Given the description of an element on the screen output the (x, y) to click on. 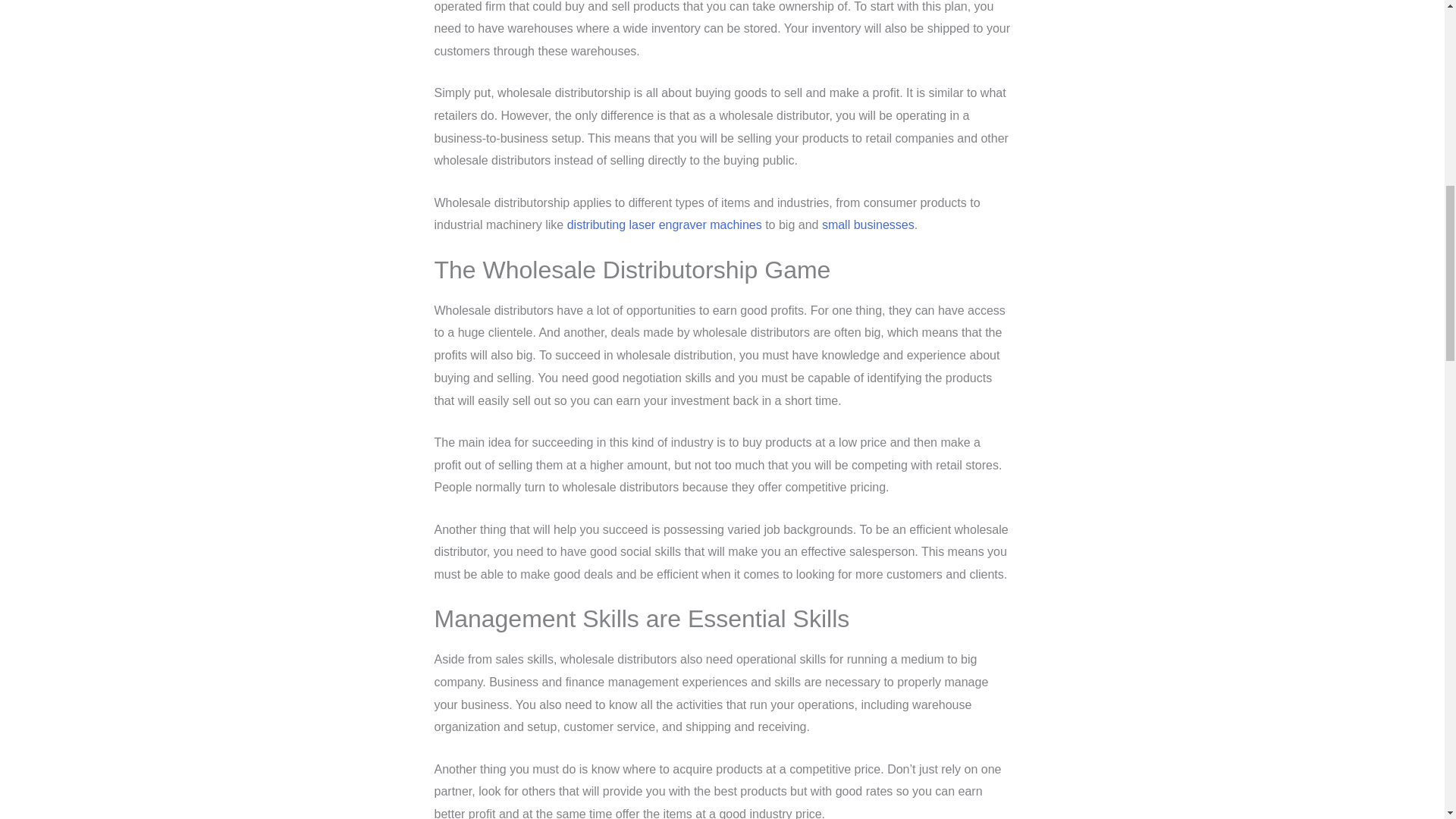
small businesses (868, 224)
distributing laser engraver machines (664, 224)
